Given the description of an element on the screen output the (x, y) to click on. 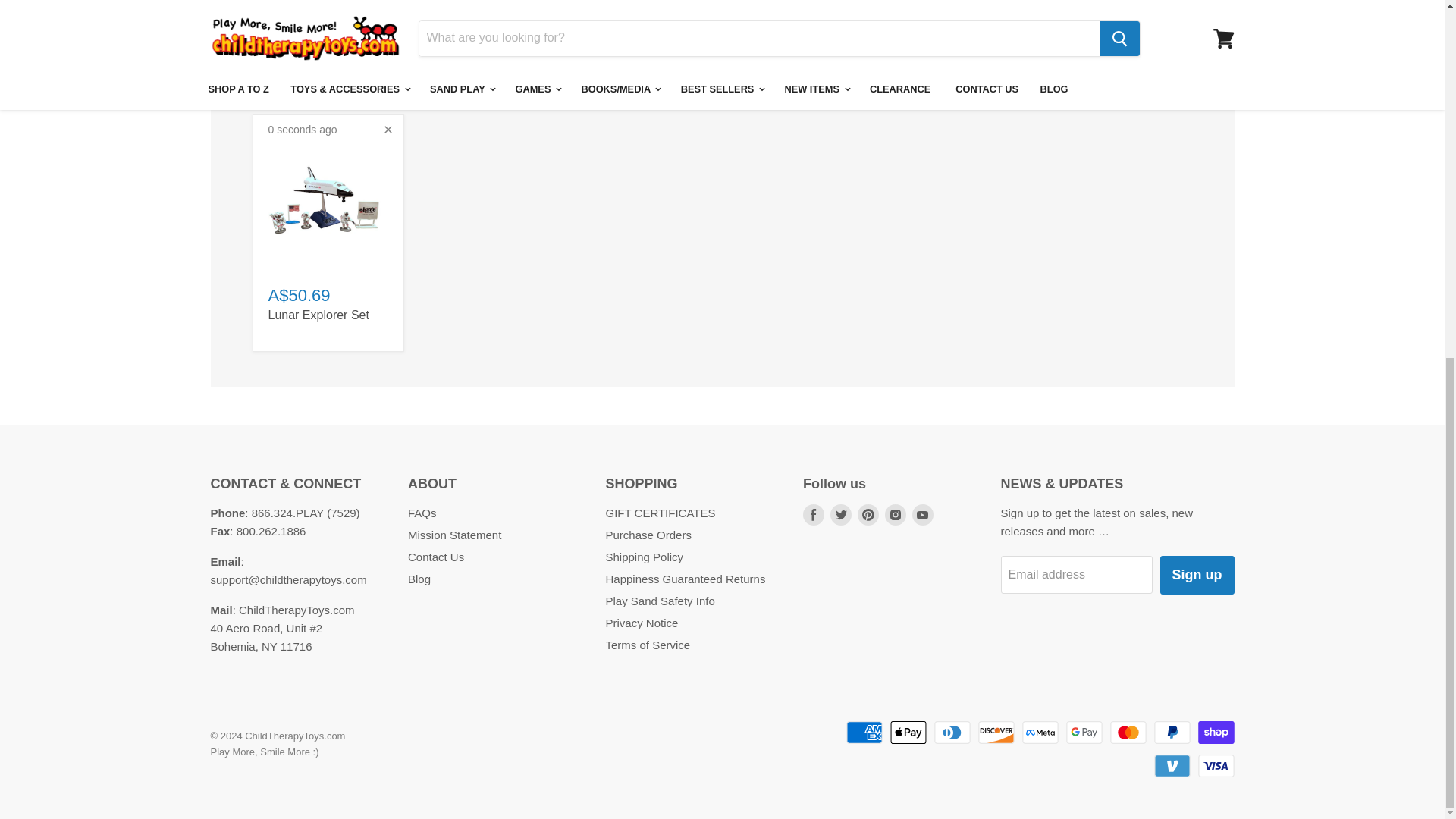
Youtube (922, 514)
Facebook (813, 514)
Pinterest (868, 514)
Twitter (840, 514)
Instagram (895, 514)
